Given the description of an element on the screen output the (x, y) to click on. 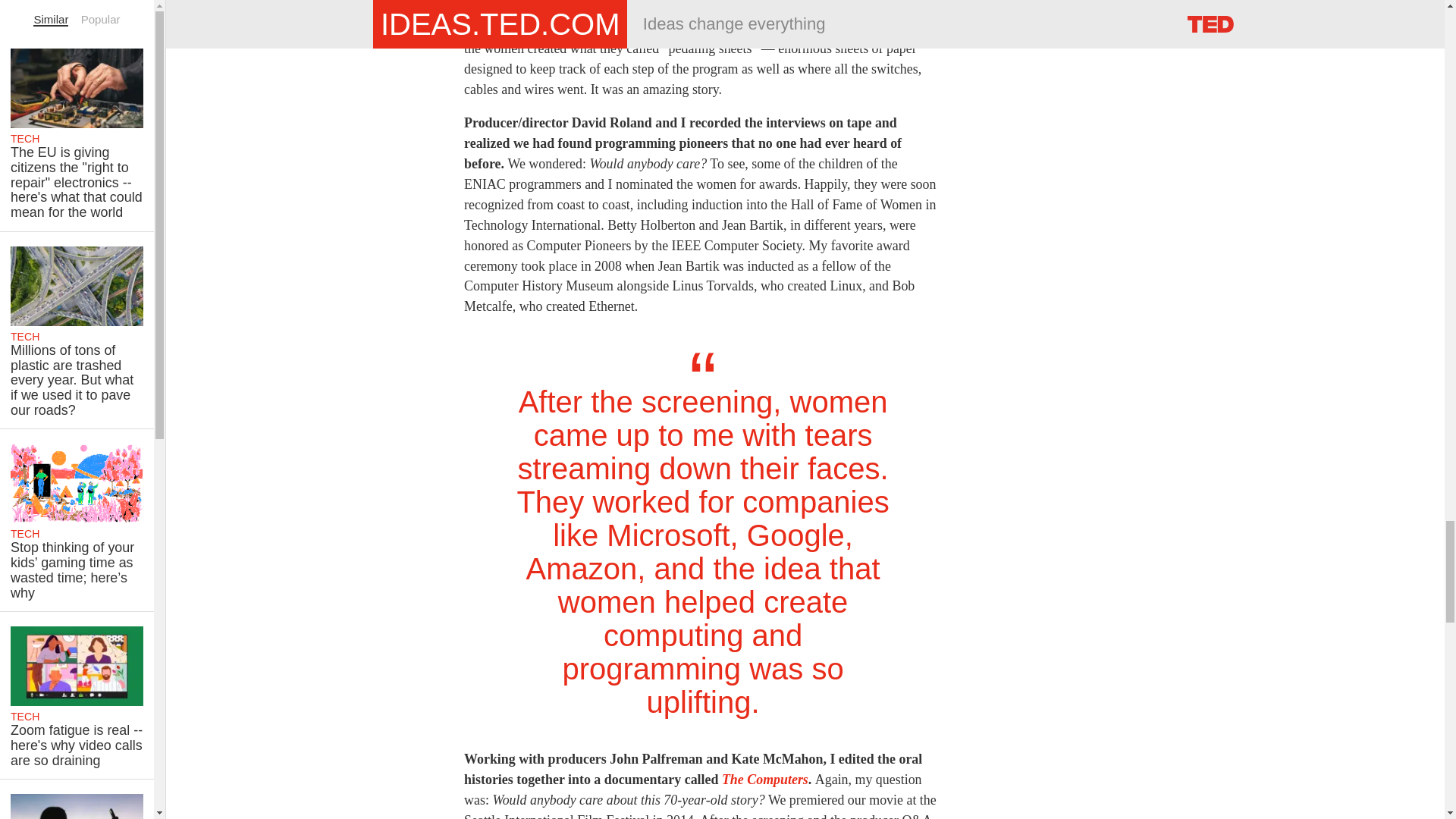
The Computers (765, 779)
